Given the description of an element on the screen output the (x, y) to click on. 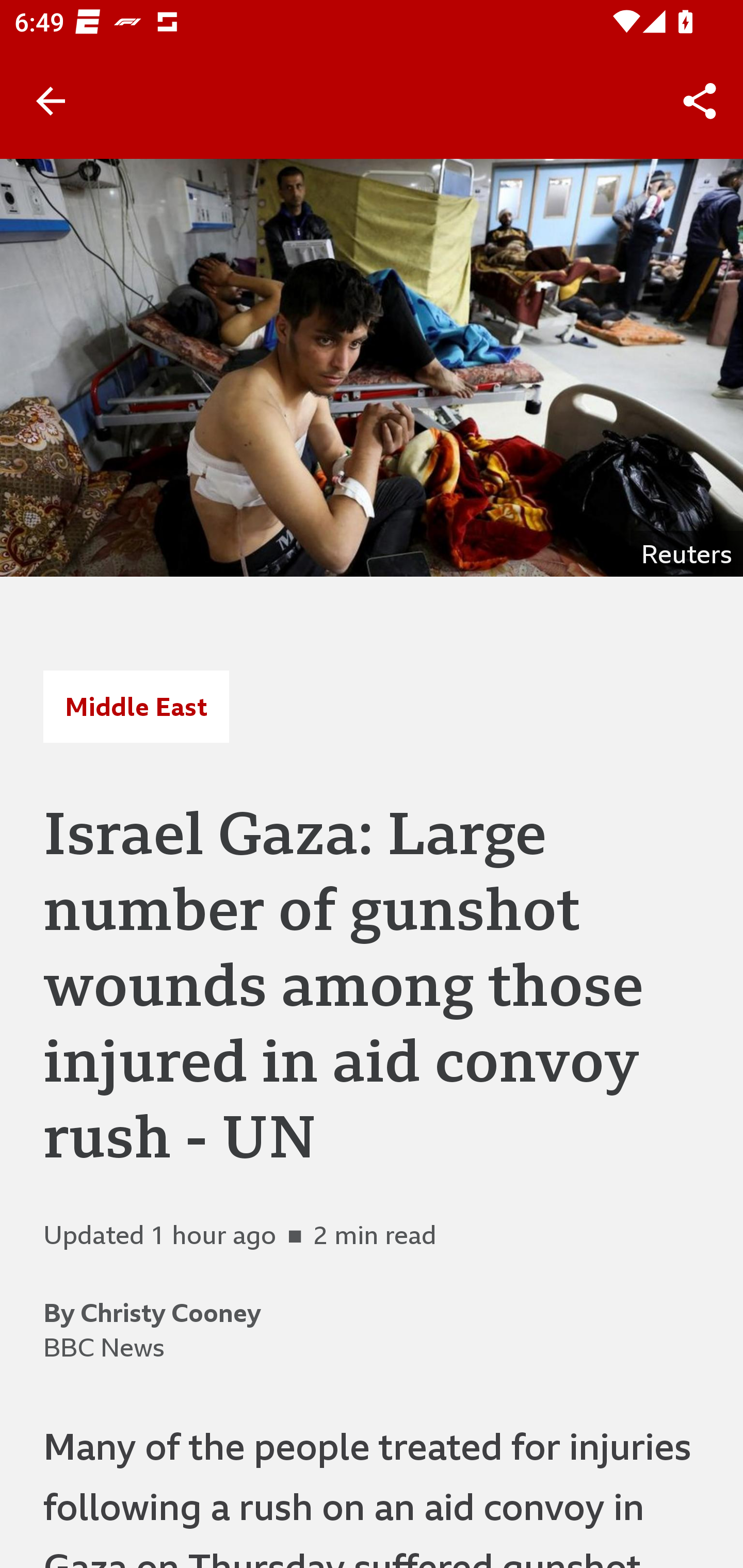
Back (50, 101)
Share (699, 101)
Middle East (135, 706)
